Given the description of an element on the screen output the (x, y) to click on. 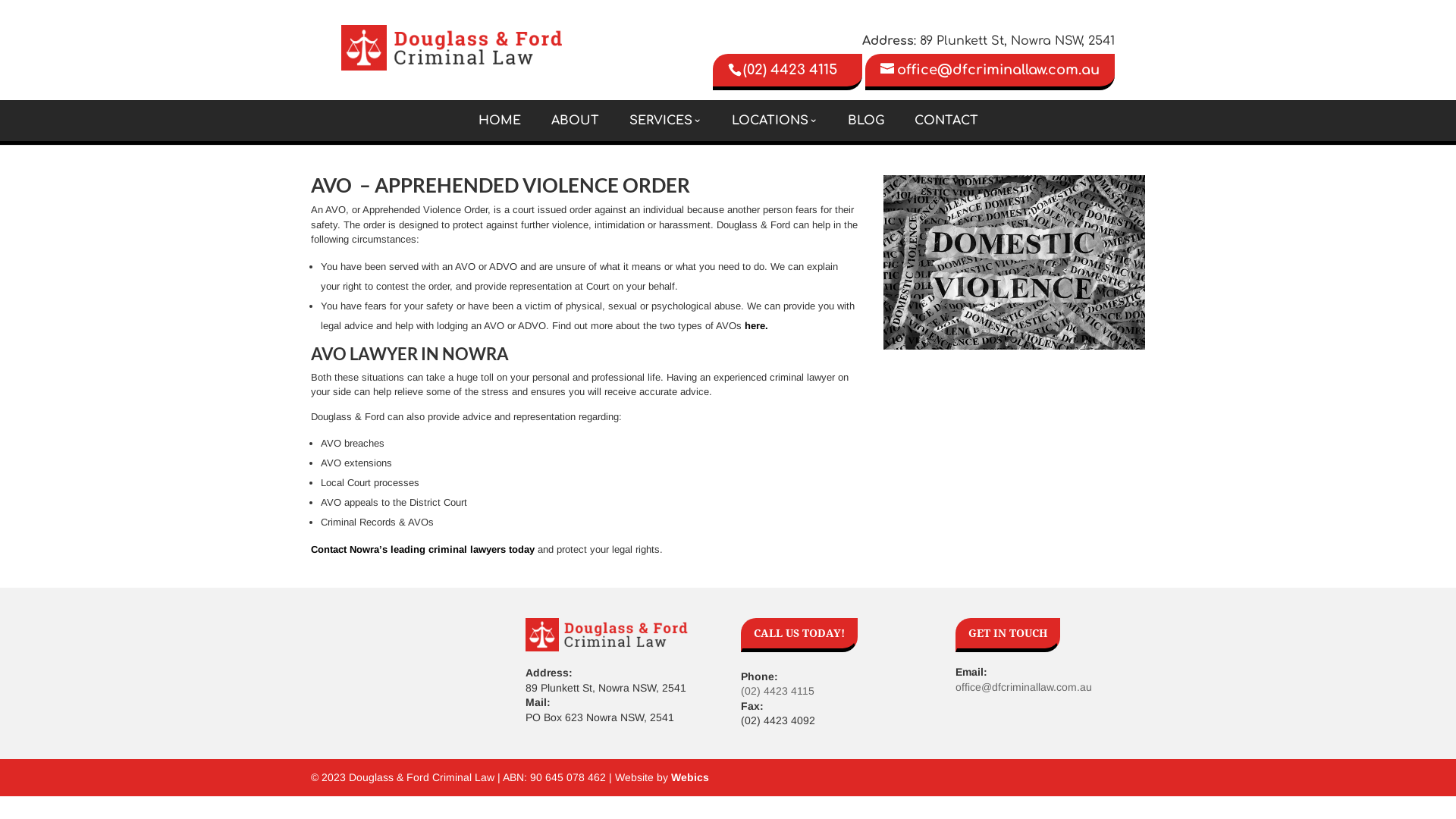
CALL US TODAY! Element type: text (798, 634)
HOME Element type: text (498, 120)
CONTACT Element type: text (946, 120)
Webics Element type: text (690, 777)
office@dfcriminallaw.com.au Element type: text (1023, 686)
(02) 4423 4115 Element type: text (776, 690)
here. Element type: text (756, 325)
BLOG Element type: text (865, 120)
(02) 4423 4115 Element type: text (787, 71)
ABOUT Element type: text (574, 120)
office@dfcriminallaw.com.au Element type: text (989, 71)
LOCATIONS Element type: text (773, 120)
SERVICES Element type: text (665, 120)
GET IN TOUCH Element type: text (1007, 634)
